Given the description of an element on the screen output the (x, y) to click on. 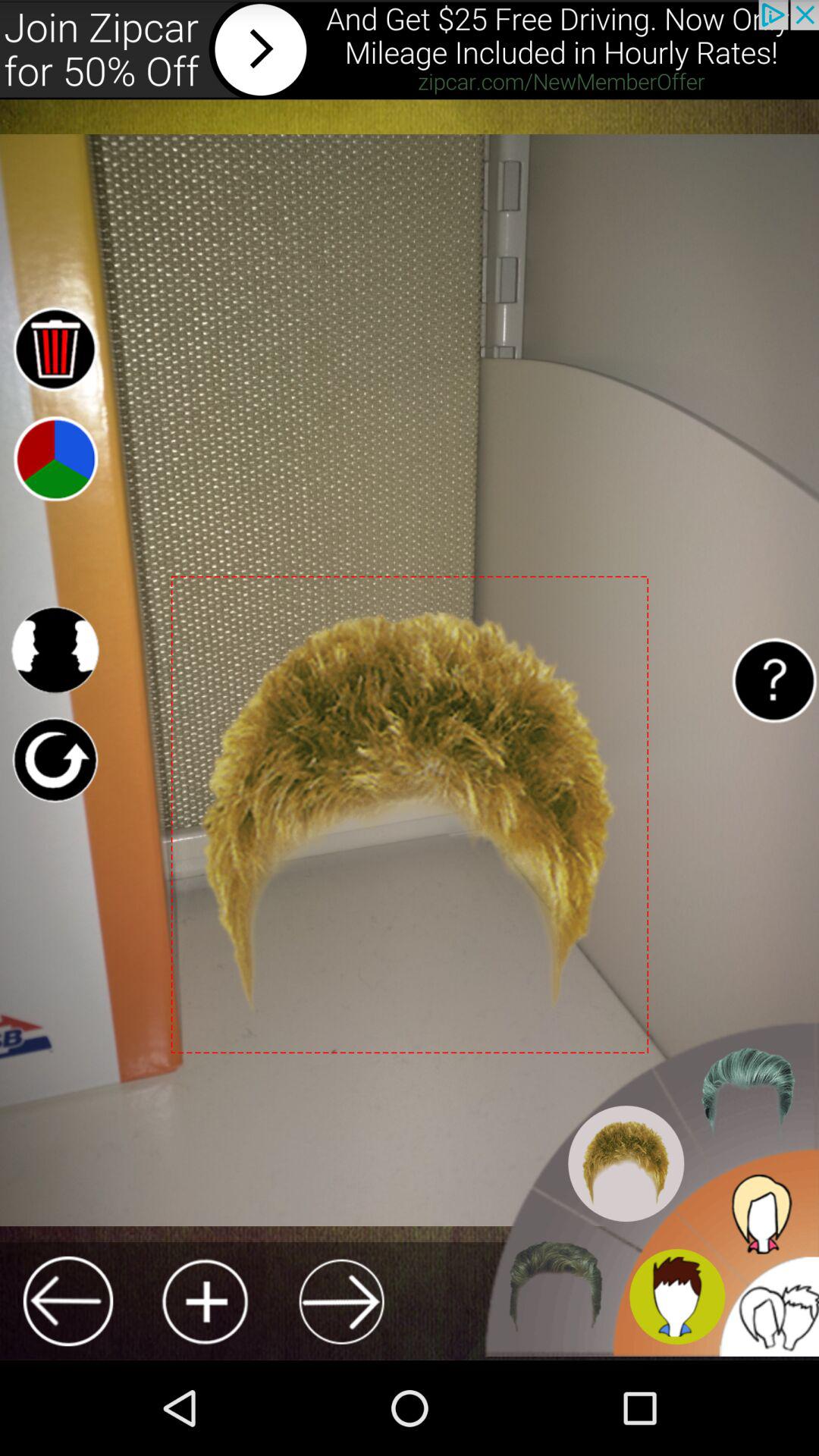
next item (341, 1301)
